Given the description of an element on the screen output the (x, y) to click on. 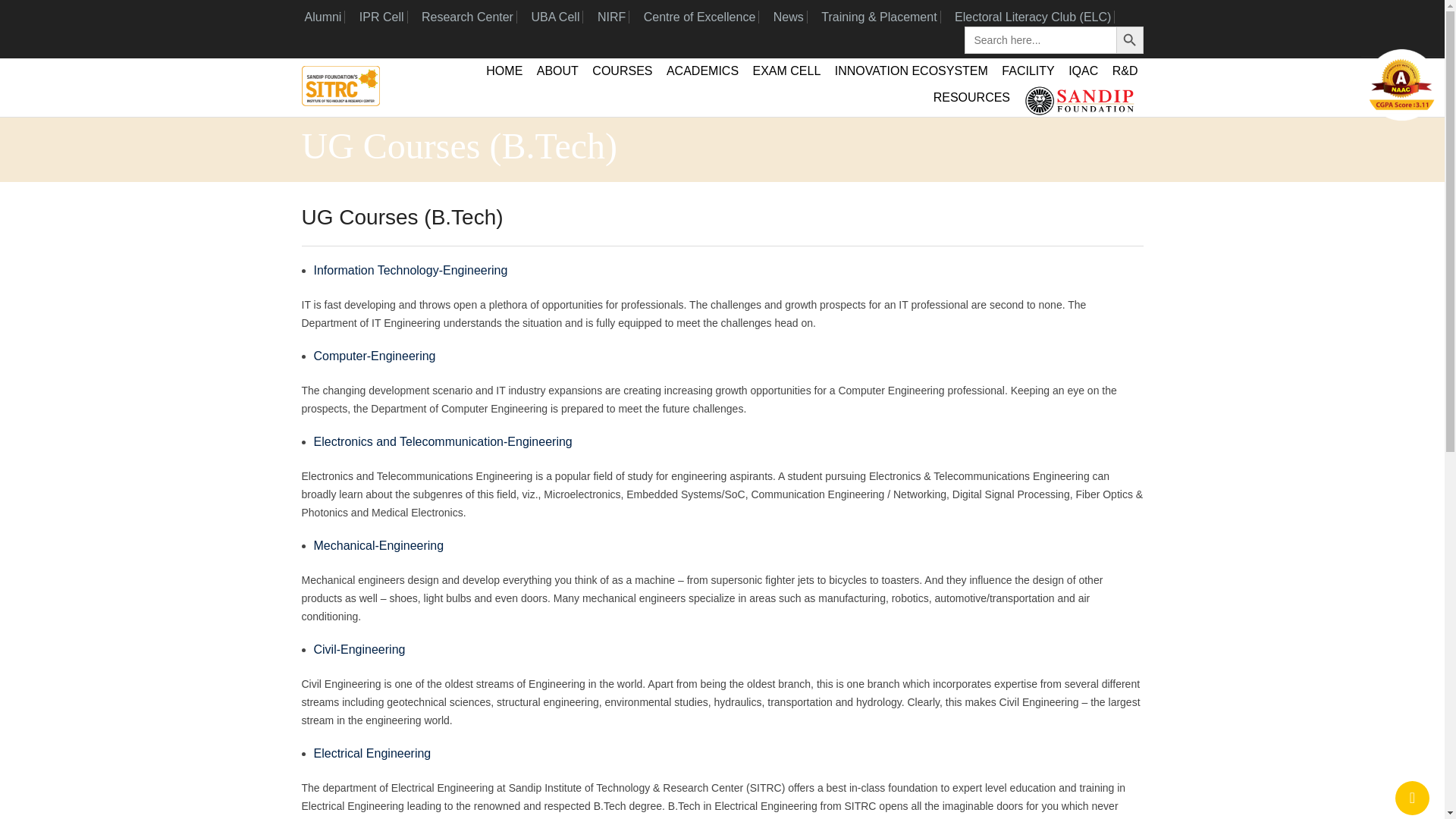
Search Button (1129, 40)
COURSES (622, 71)
Electrical-Engineering (372, 753)
ABOUT (557, 71)
Centre of Excellence (699, 16)
HOME (503, 71)
Information Technology-Engineering (411, 269)
IPR Cell (381, 16)
Alumni (323, 16)
NIRF (611, 16)
Electronics And Telecommunication-Engineering (443, 440)
ACADEMICS (702, 71)
News (788, 16)
Civil-Engineering (360, 649)
Computer-Engineering (374, 355)
